Given the description of an element on the screen output the (x, y) to click on. 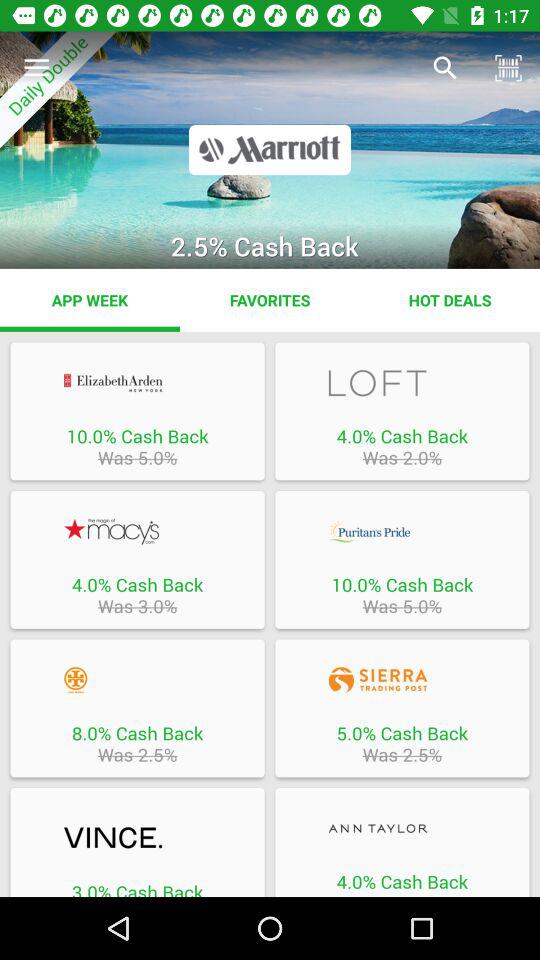
press app to the right of favorites icon (450, 299)
